Given the description of an element on the screen output the (x, y) to click on. 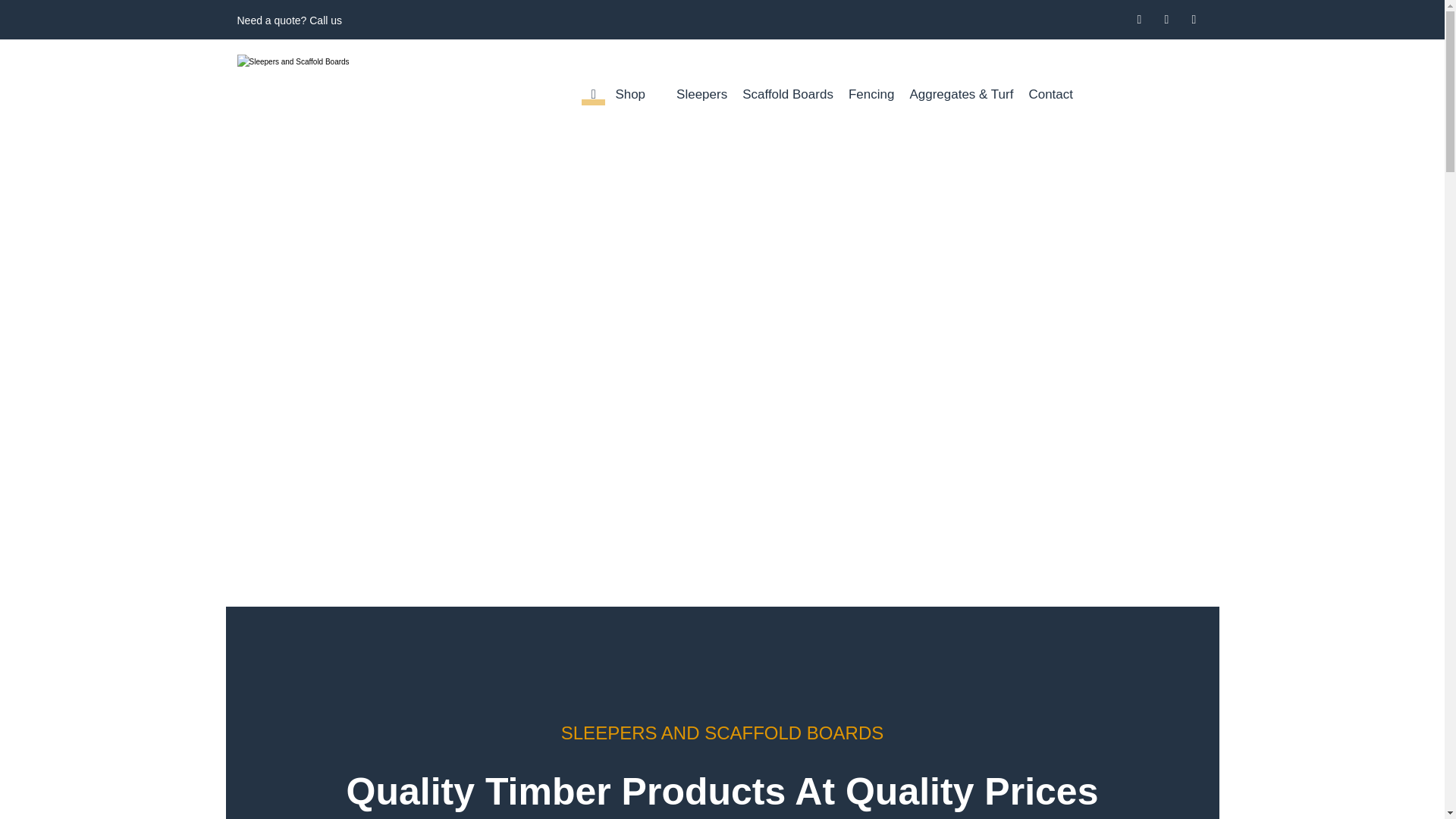
Fencing (870, 94)
Scaffold Boards (787, 94)
Shop (637, 94)
Contact (1058, 94)
Sleepers (701, 94)
Fornham Timber Ltd (337, 83)
